Given the description of an element on the screen output the (x, y) to click on. 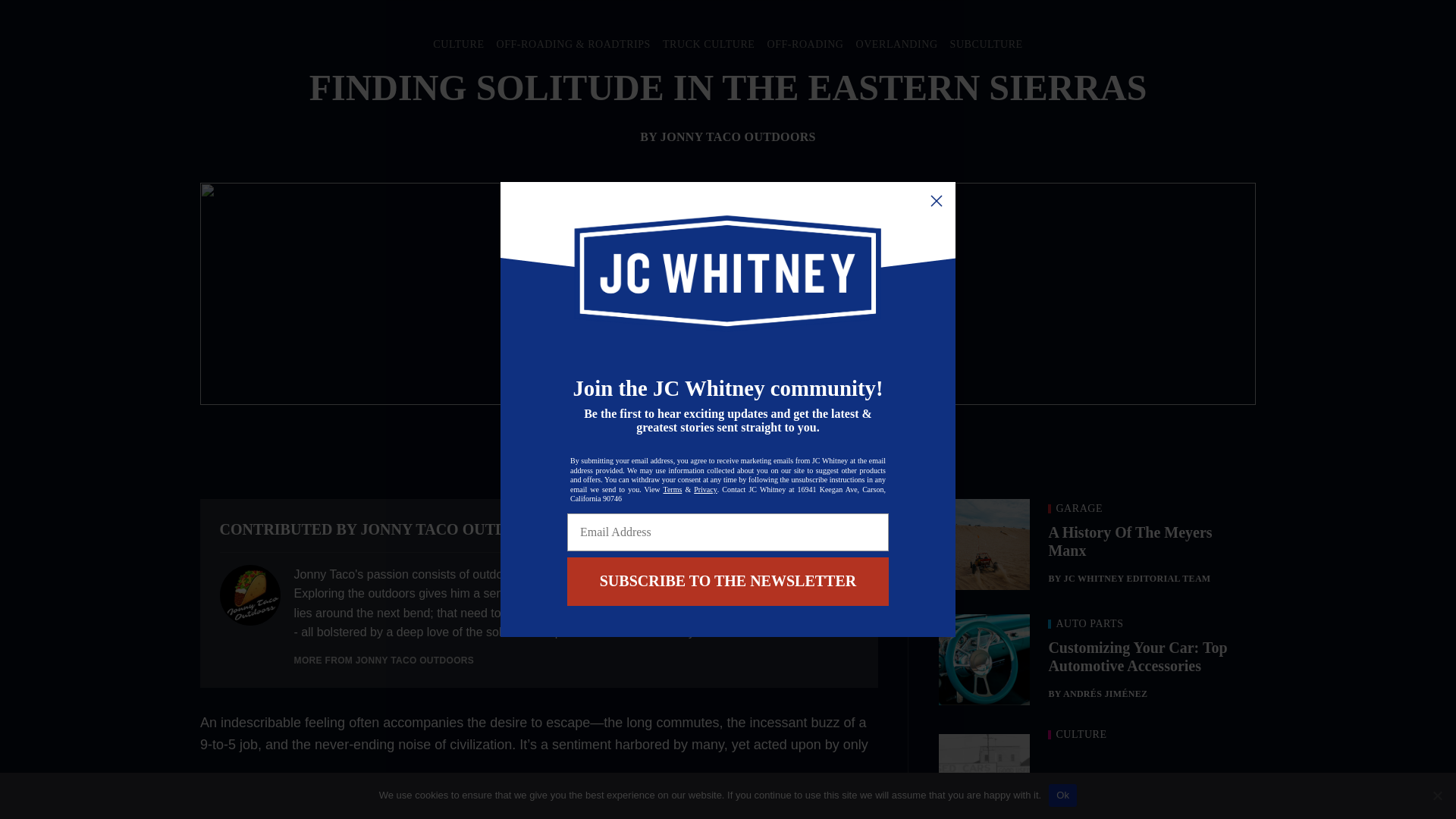
MORE FROM JONNY TACO OUTDOORS (384, 660)
TRUCK CULTURE (708, 44)
SUBCULTURE (986, 44)
OVERLANDING (896, 44)
OFF-ROADING (805, 44)
VIEW AUTHOR WEBSITE (794, 528)
BY JONNY TACO OUTDOORS (727, 136)
CULTURE (457, 44)
